Given the description of an element on the screen output the (x, y) to click on. 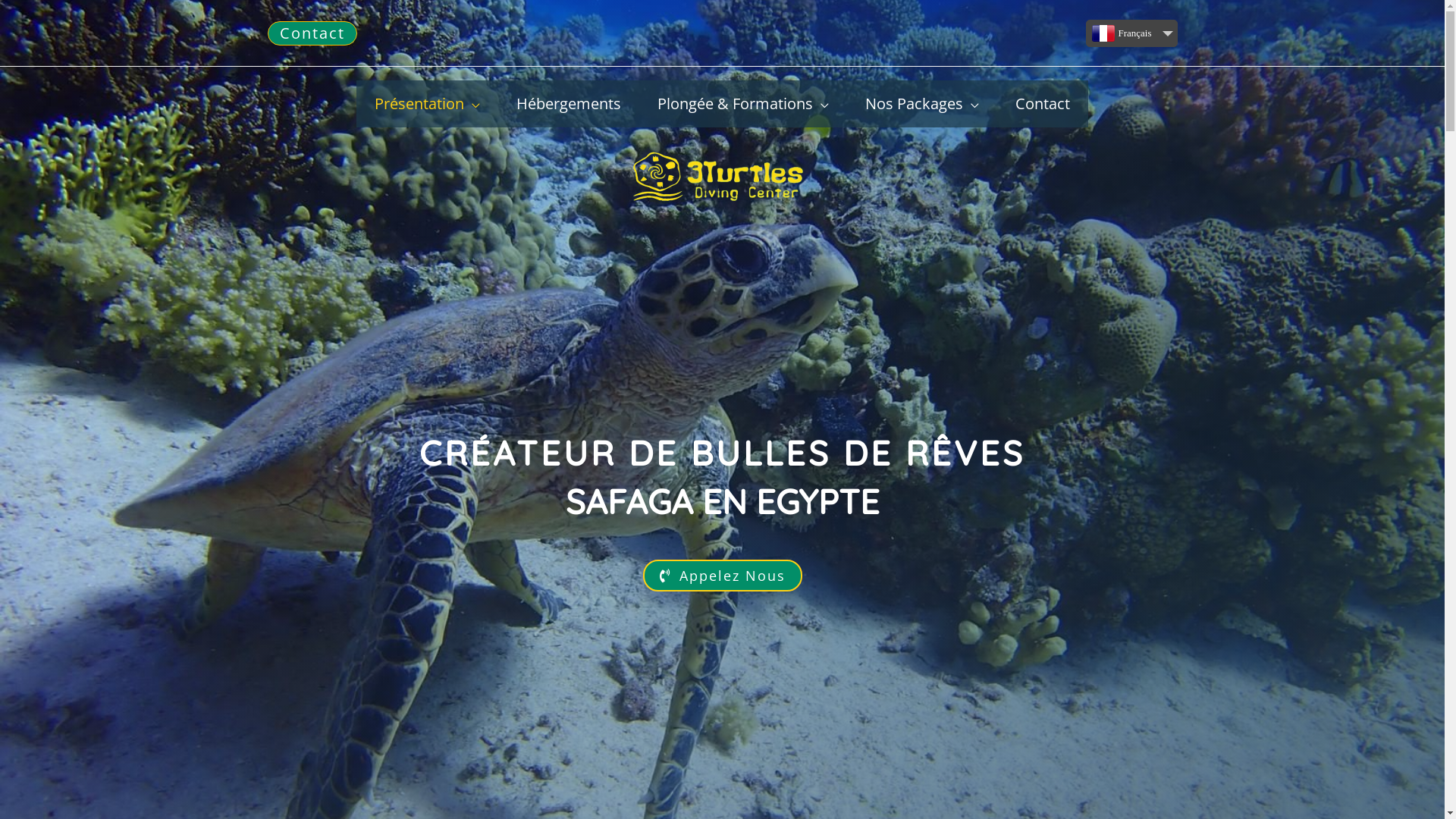
Contact Element type: text (311, 33)
Contact Element type: text (1042, 103)
Appelez Nous Element type: text (722, 575)
Nos Packages Element type: text (922, 103)
